Given the description of an element on the screen output the (x, y) to click on. 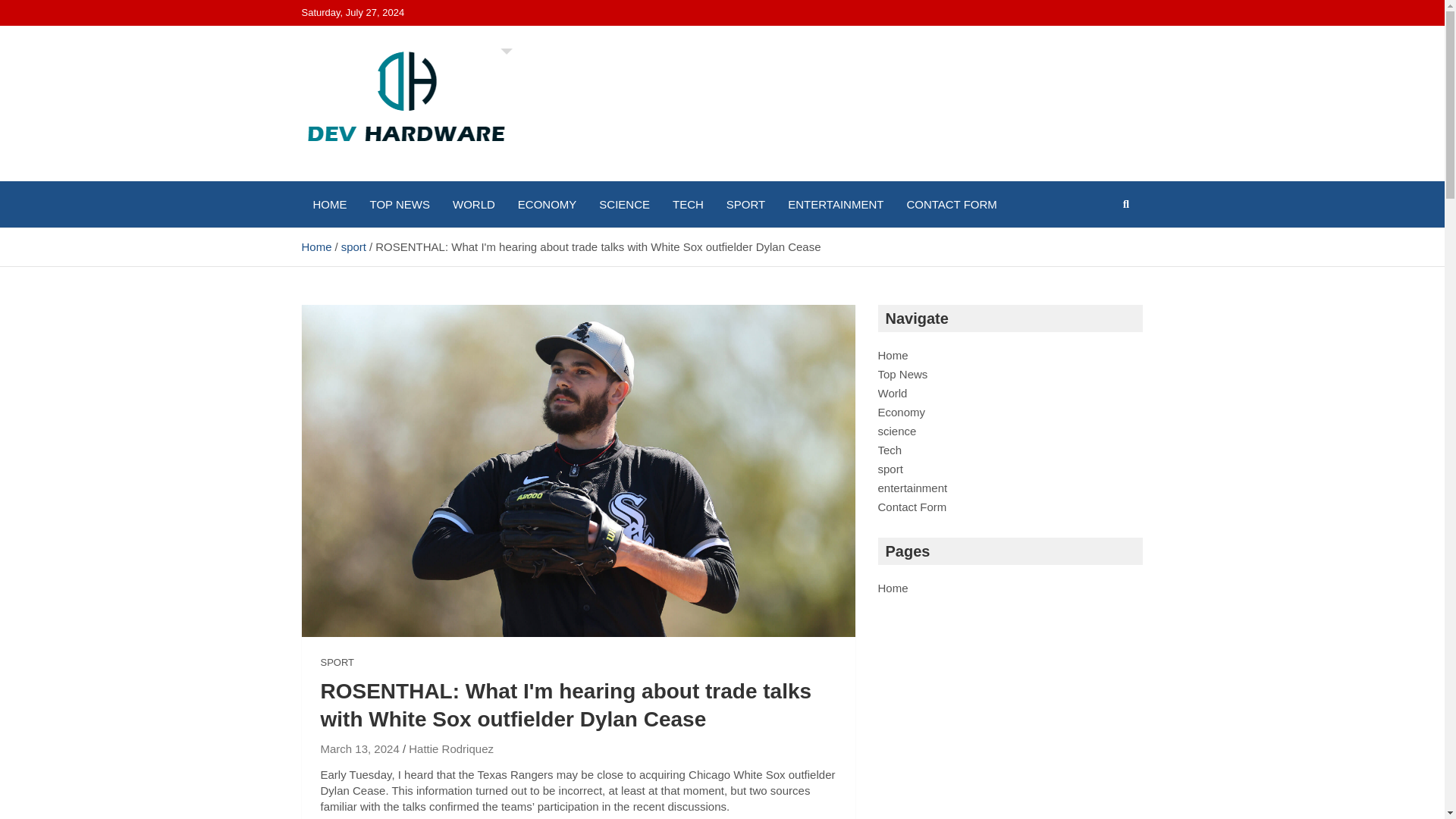
Home (316, 246)
sport (889, 468)
SCIENCE (624, 203)
ENTERTAINMENT (835, 203)
SPORT (745, 203)
Economy (901, 411)
Hattie Rodriquez (451, 748)
March 13, 2024 (359, 748)
SPORT (336, 662)
HOME (329, 203)
Tech (889, 449)
TECH (687, 203)
ECONOMY (547, 203)
Home (892, 354)
